Given the description of an element on the screen output the (x, y) to click on. 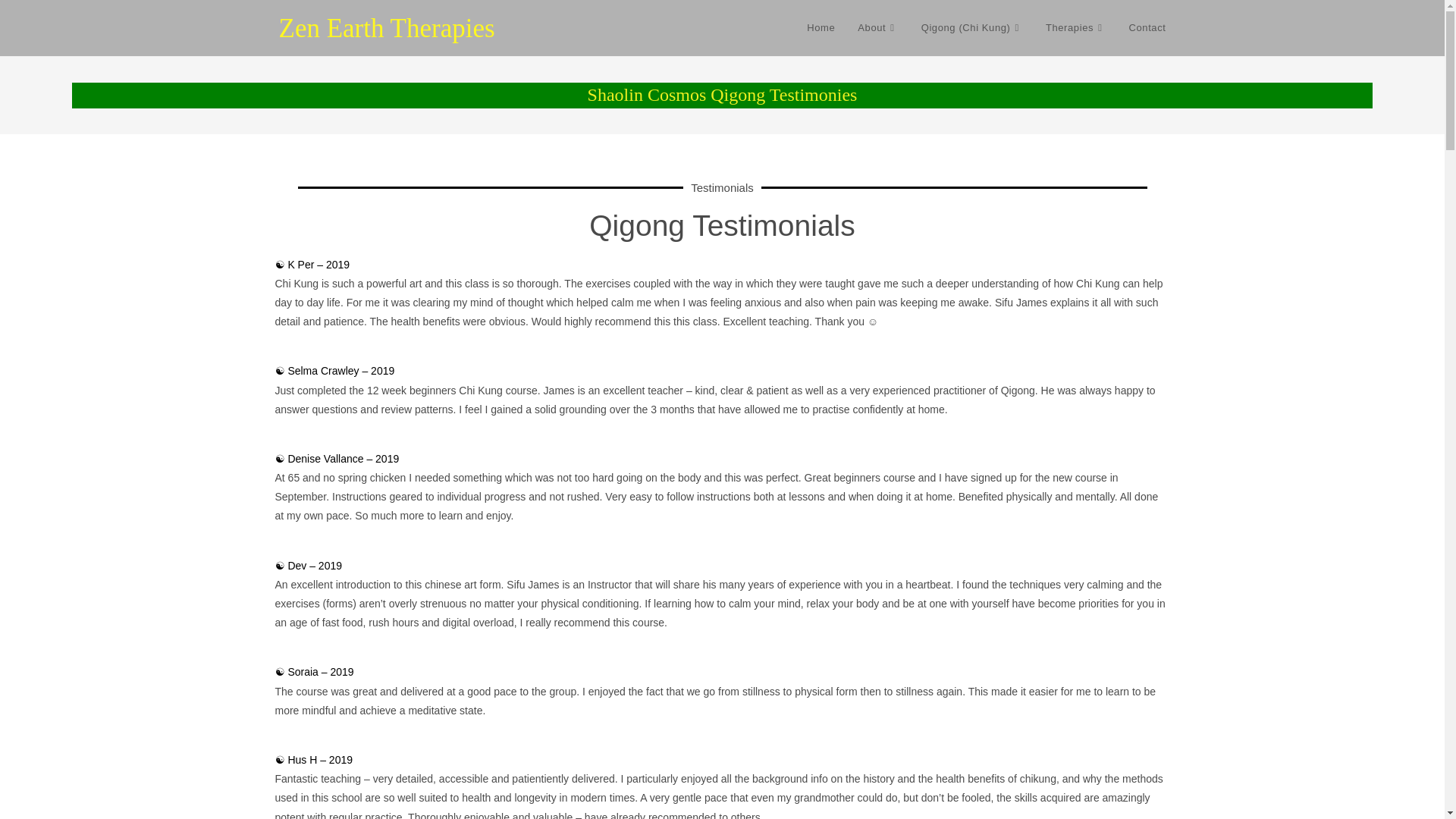
Therapies (1075, 28)
Contact (1146, 28)
Zen Earth Therapies (387, 28)
About (876, 28)
Home (819, 28)
